Given the description of an element on the screen output the (x, y) to click on. 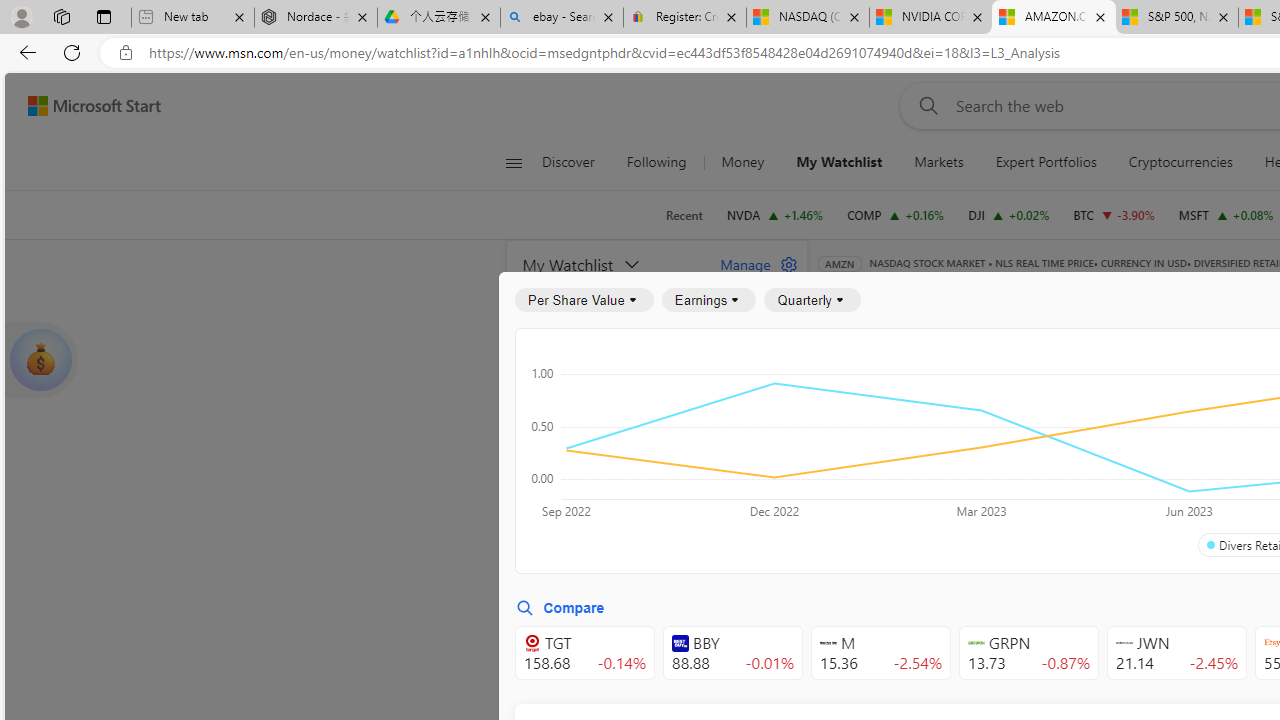
Balance Sheet (1079, 391)
Watchlist (1152, 291)
show card (40, 359)
My Watchlist (610, 264)
BTC Bitcoin decrease 59,996.99 -2,337.48 -3.90% (1114, 214)
